Given the description of an element on the screen output the (x, y) to click on. 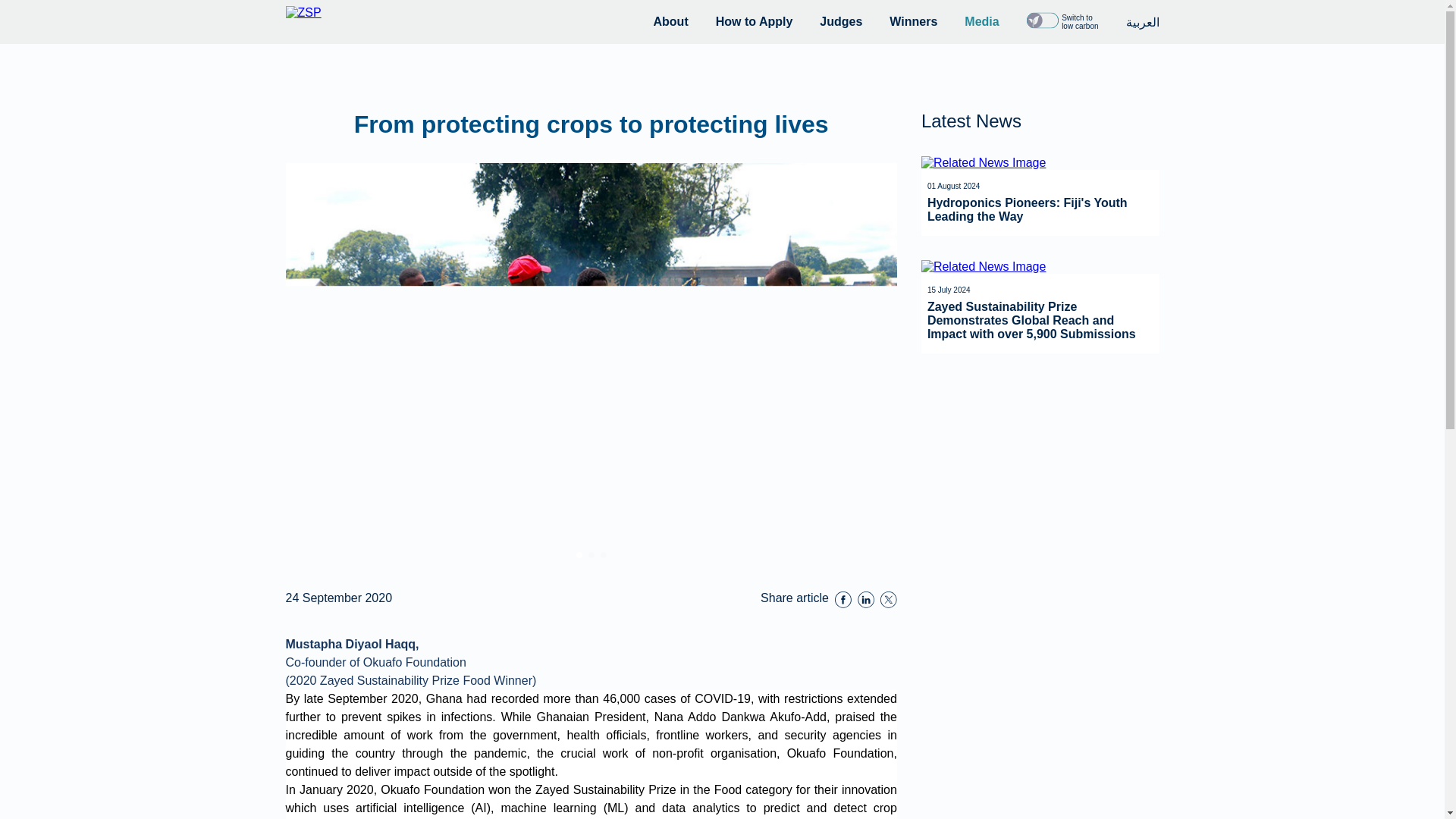
About (670, 21)
How to Apply (754, 21)
Media (980, 21)
Judges (840, 21)
Winners (913, 21)
